Given the description of an element on the screen output the (x, y) to click on. 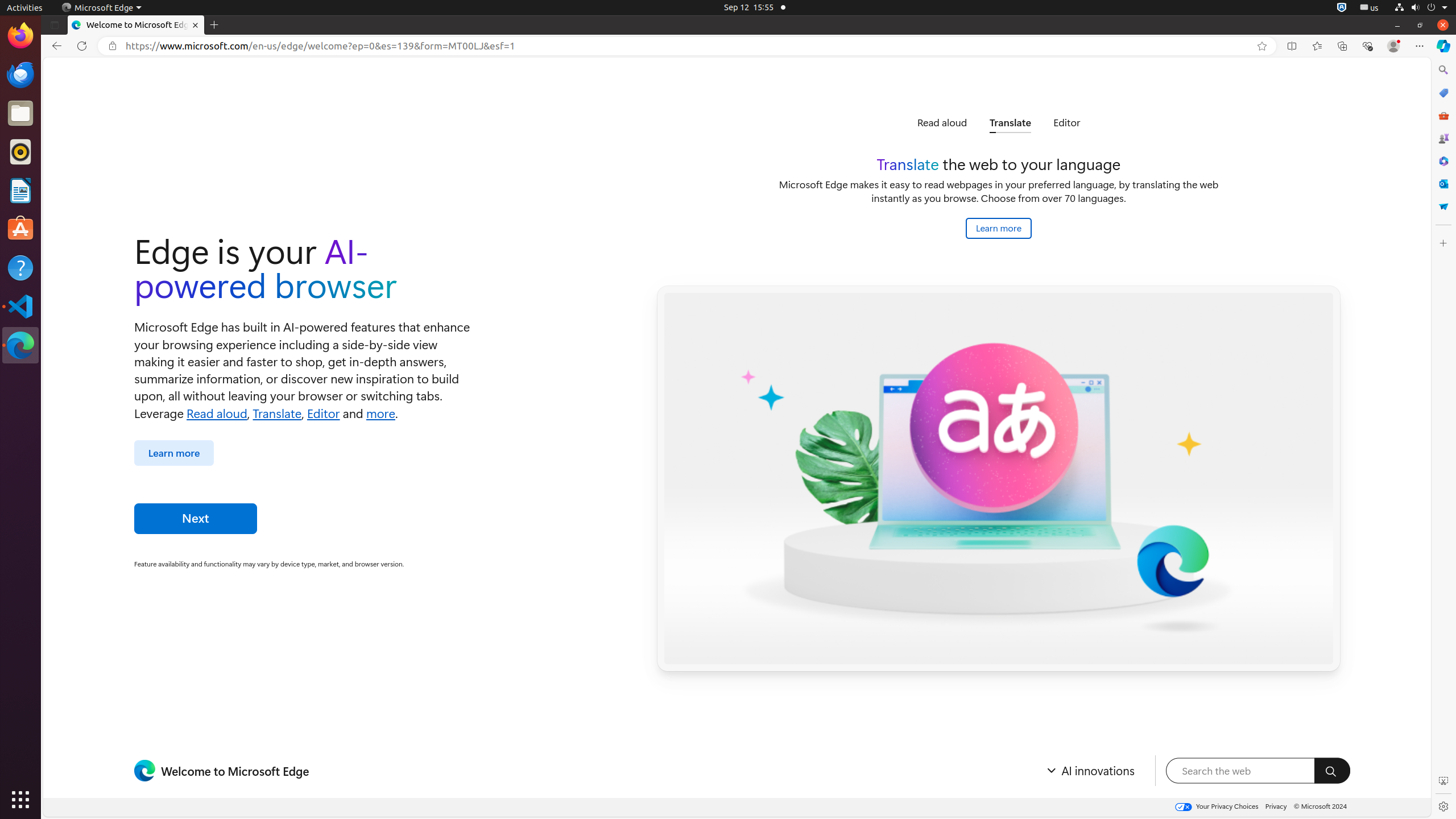
more Element type: link (380, 412)
Translate Element type: link (277, 412)
Customize Element type: push-button (1443, 243)
Microsoft Edge Element type: menu (101, 7)
Visual Studio Code Element type: push-button (20, 306)
